Given the description of an element on the screen output the (x, y) to click on. 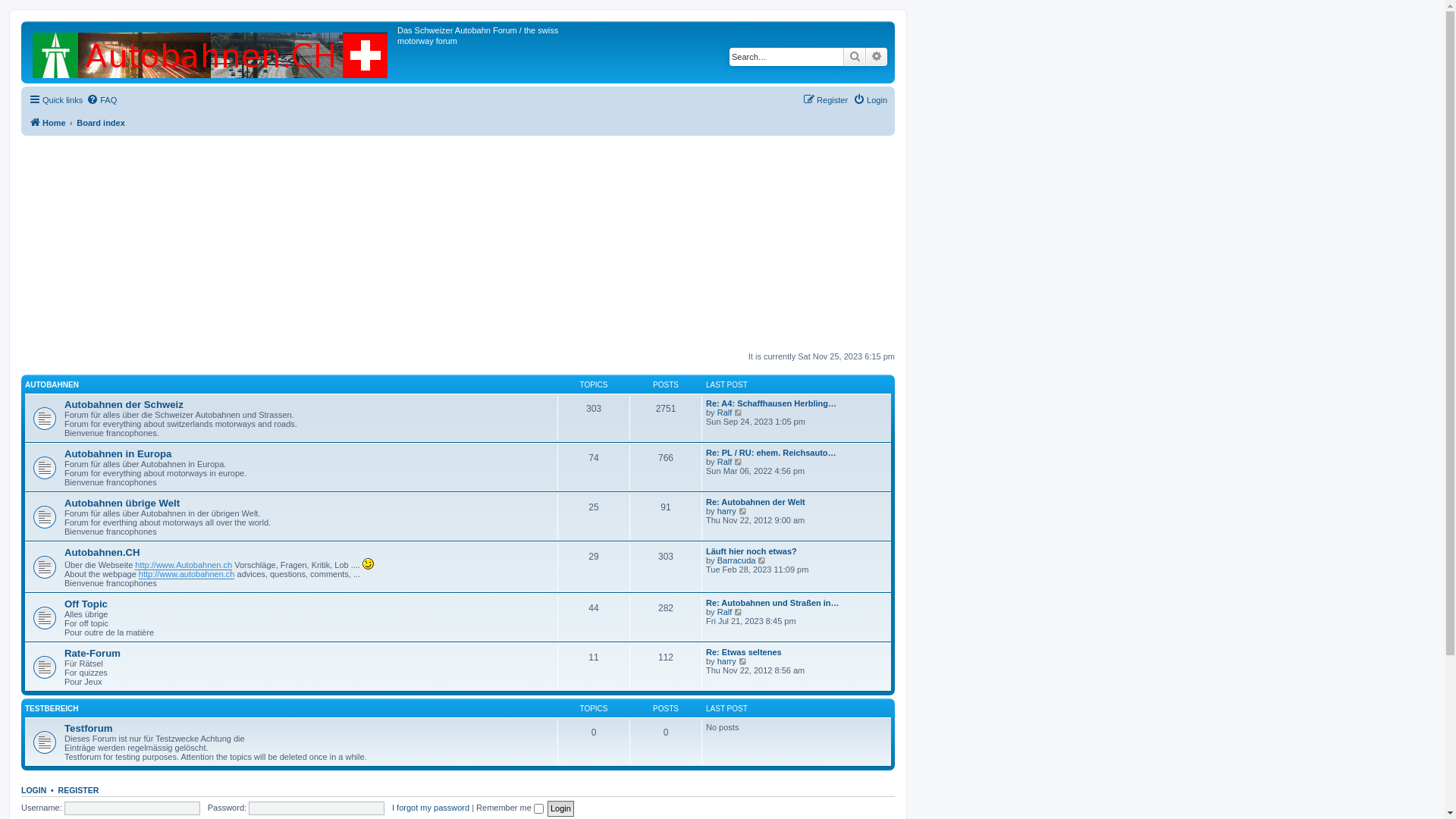
View the latest post Element type: text (738, 611)
AUTOBAHNEN Element type: text (51, 384)
View the latest post Element type: text (763, 559)
Search for keywords Element type: hover (786, 56)
Wink Element type: hover (367, 563)
harry Element type: text (726, 660)
Board index Element type: text (100, 122)
Username Element type: hover (132, 808)
View the latest post Element type: text (743, 660)
Off Topic Element type: text (85, 603)
I forgot my password Element type: text (430, 807)
Advertisement Element type: hover (457, 244)
Login Element type: text (560, 808)
http://www.Autobahnen.ch Element type: text (183, 565)
Register Element type: text (825, 100)
Ralf Element type: text (724, 412)
FAQ Element type: text (101, 100)
Rate-Forum Element type: text (92, 652)
harry Element type: text (726, 510)
Search Element type: text (854, 56)
Login Element type: text (870, 100)
Barracuda Element type: text (736, 559)
Home Element type: text (46, 122)
Advanced search Element type: text (876, 56)
Testforum Element type: text (88, 728)
Autobahnen.CH Element type: text (102, 552)
Ralf Element type: text (724, 461)
Quick links Element type: text (55, 100)
LOGIN Element type: text (33, 789)
Password Element type: hover (316, 808)
http://www.autobahnen.ch Element type: text (186, 574)
View the latest post Element type: text (743, 510)
TESTBEREICH Element type: text (51, 708)
Re: Etwas seltenes Element type: text (743, 651)
View the latest post Element type: text (738, 412)
Home Element type: hover (211, 52)
Autobahnen der Schweiz Element type: text (123, 404)
Re: Autobahnen der Welt Element type: text (755, 501)
Ralf Element type: text (724, 611)
Autobahnen in Europa Element type: text (117, 453)
View the latest post Element type: text (738, 461)
REGISTER Element type: text (78, 789)
